Given the description of an element on the screen output the (x, y) to click on. 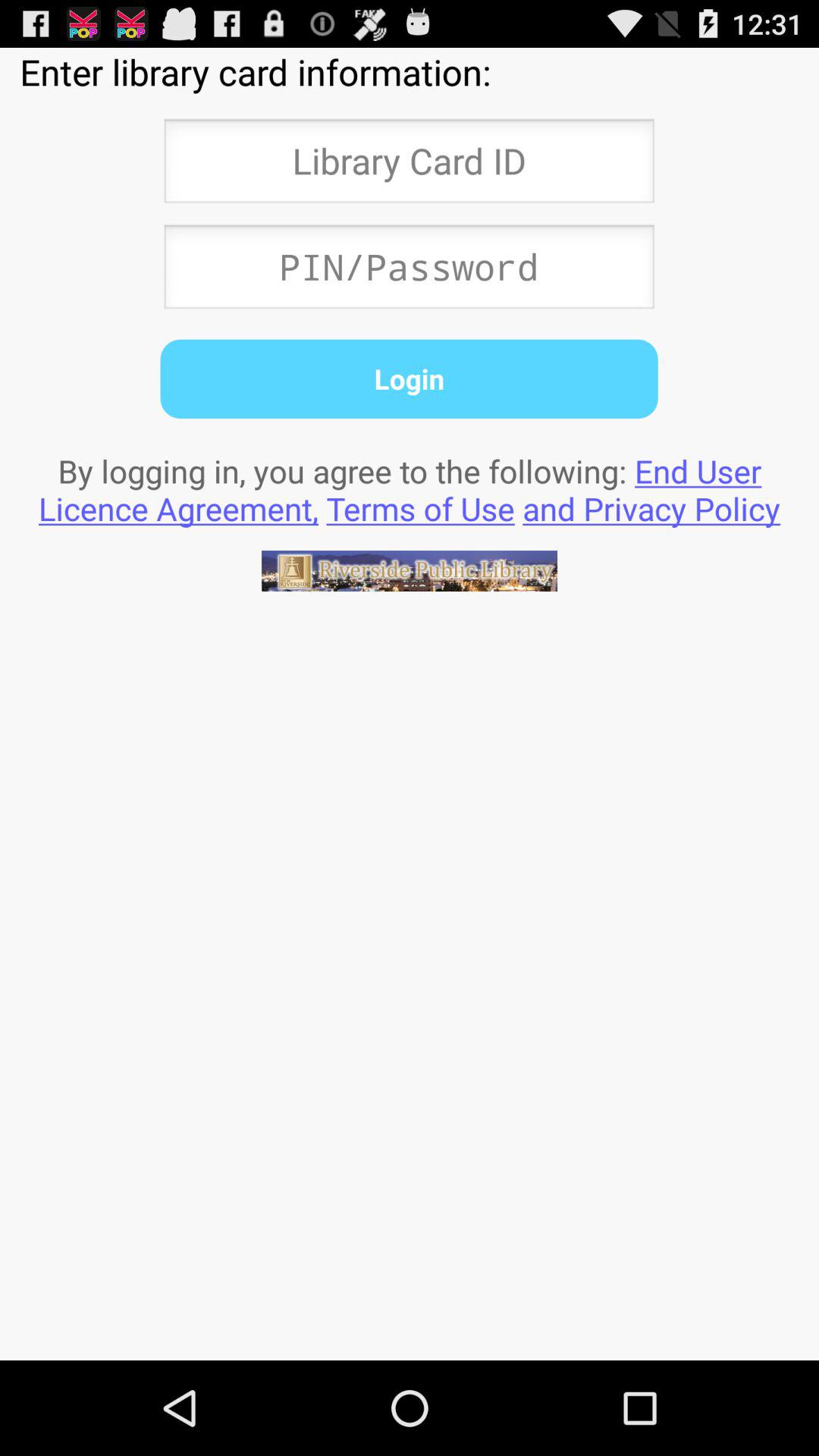
swipe to login button (409, 378)
